Given the description of an element on the screen output the (x, y) to click on. 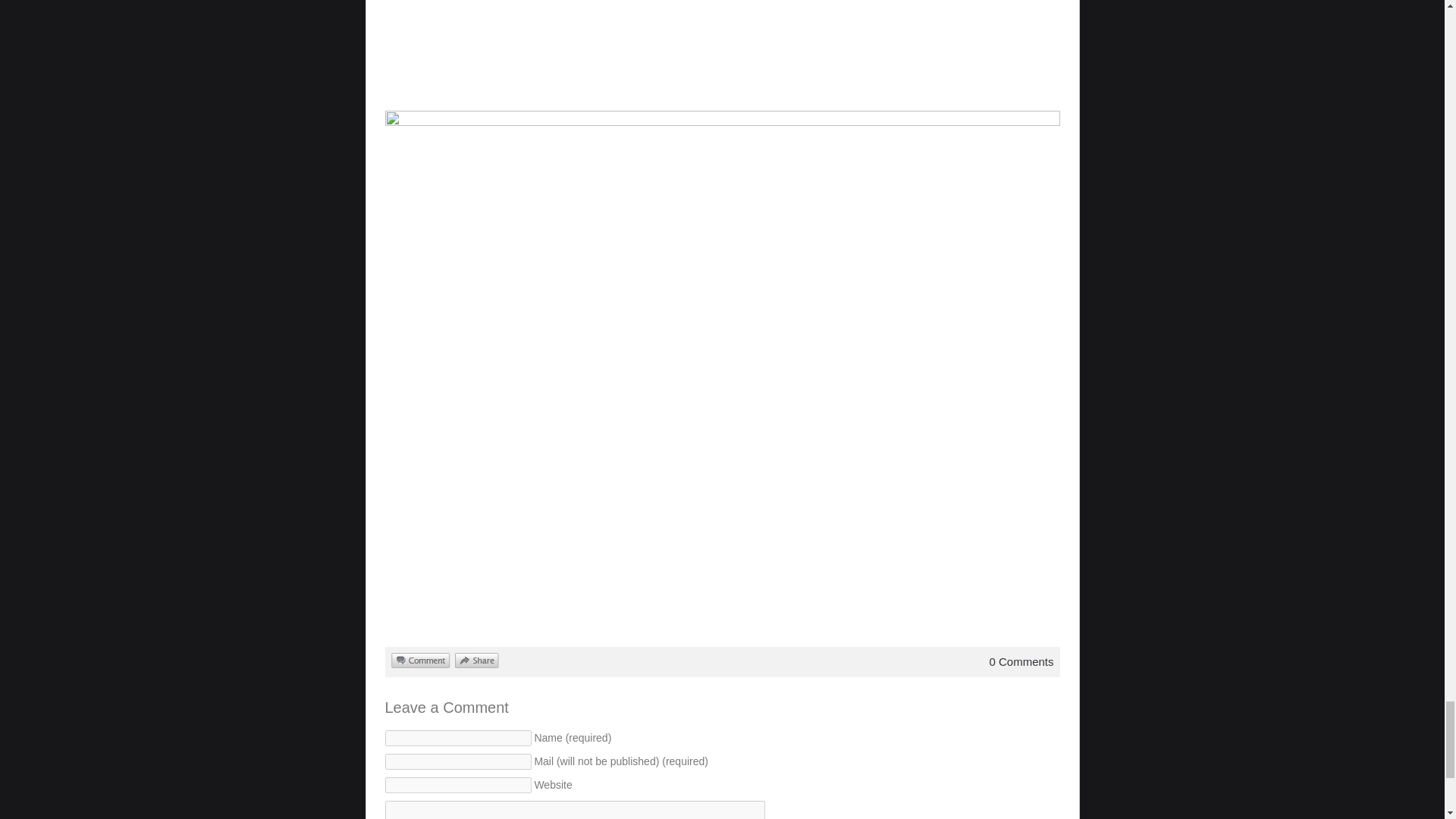
0 Comments (1020, 661)
